Given the description of an element on the screen output the (x, y) to click on. 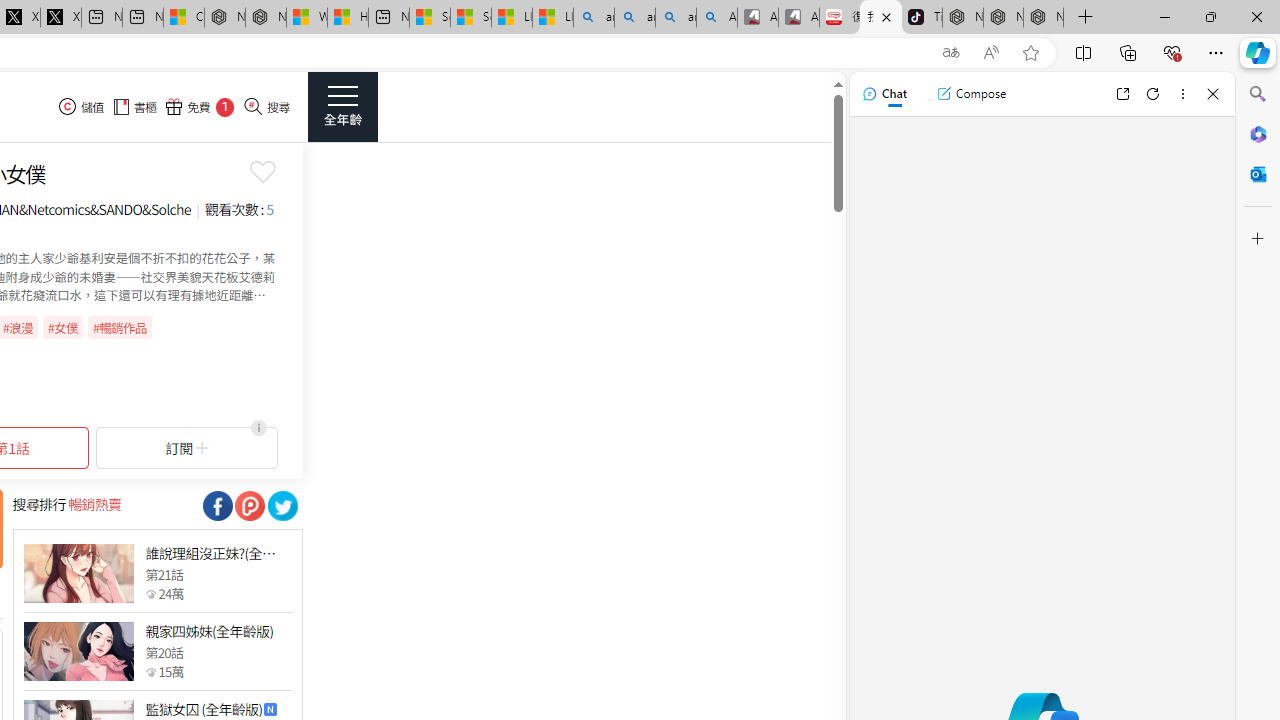
Class: side_menu_btn actionRightMenuBtn (342, 106)
